Given the description of an element on the screen output the (x, y) to click on. 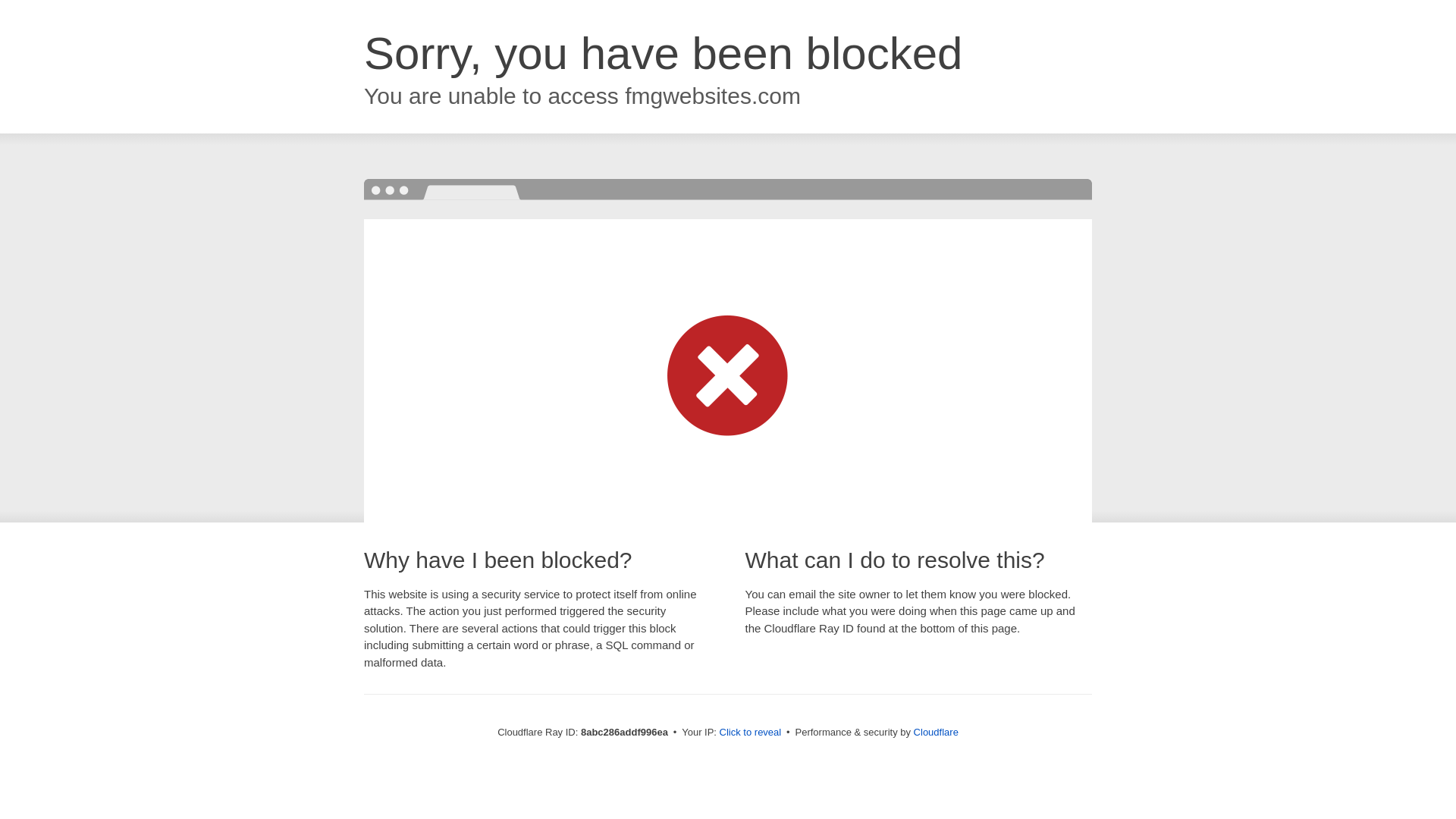
Click to reveal (750, 732)
Cloudflare (936, 731)
